Given the description of an element on the screen output the (x, y) to click on. 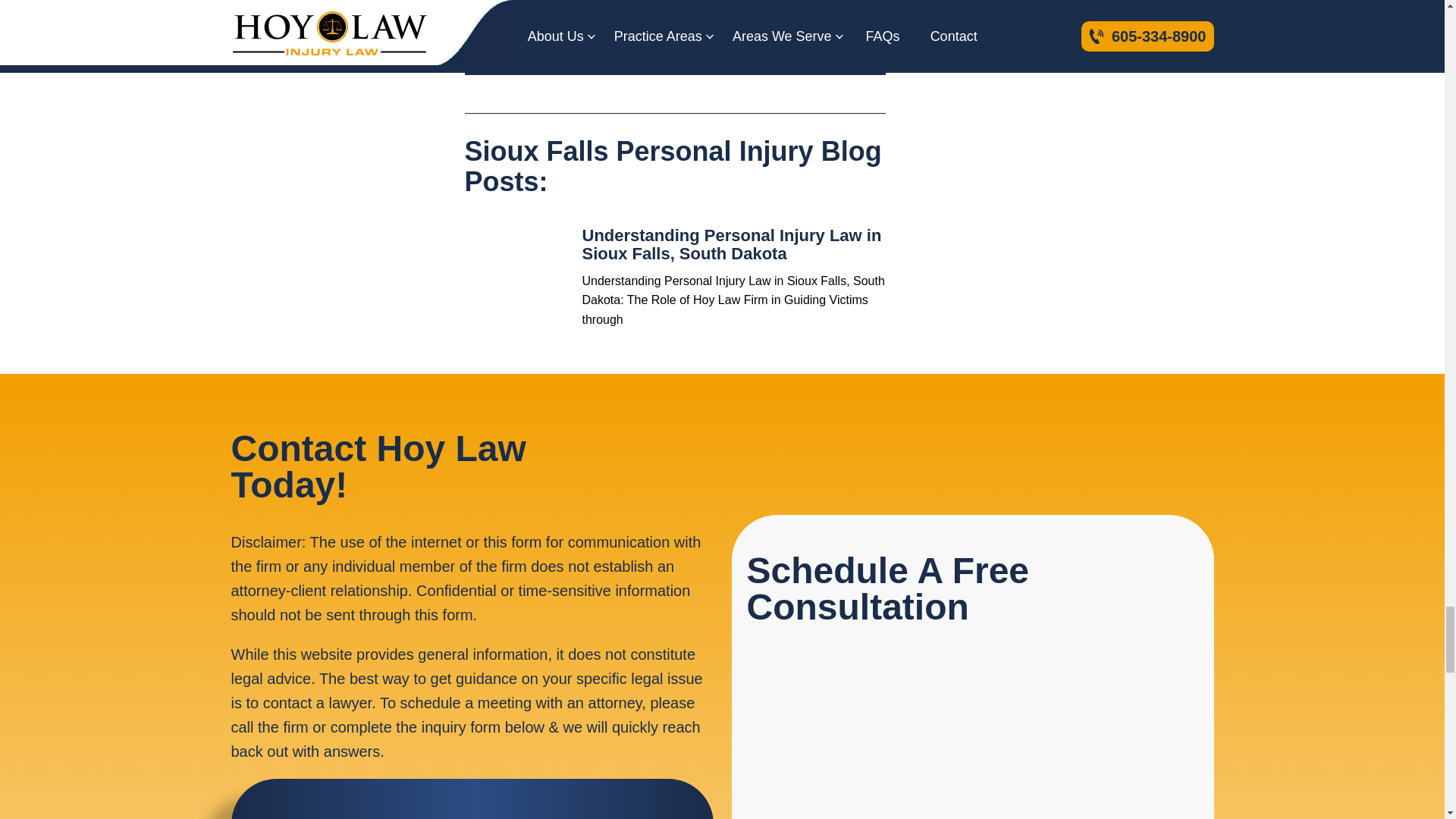
Contact Form Below Header Border (971, 728)
